Given the description of an element on the screen output the (x, y) to click on. 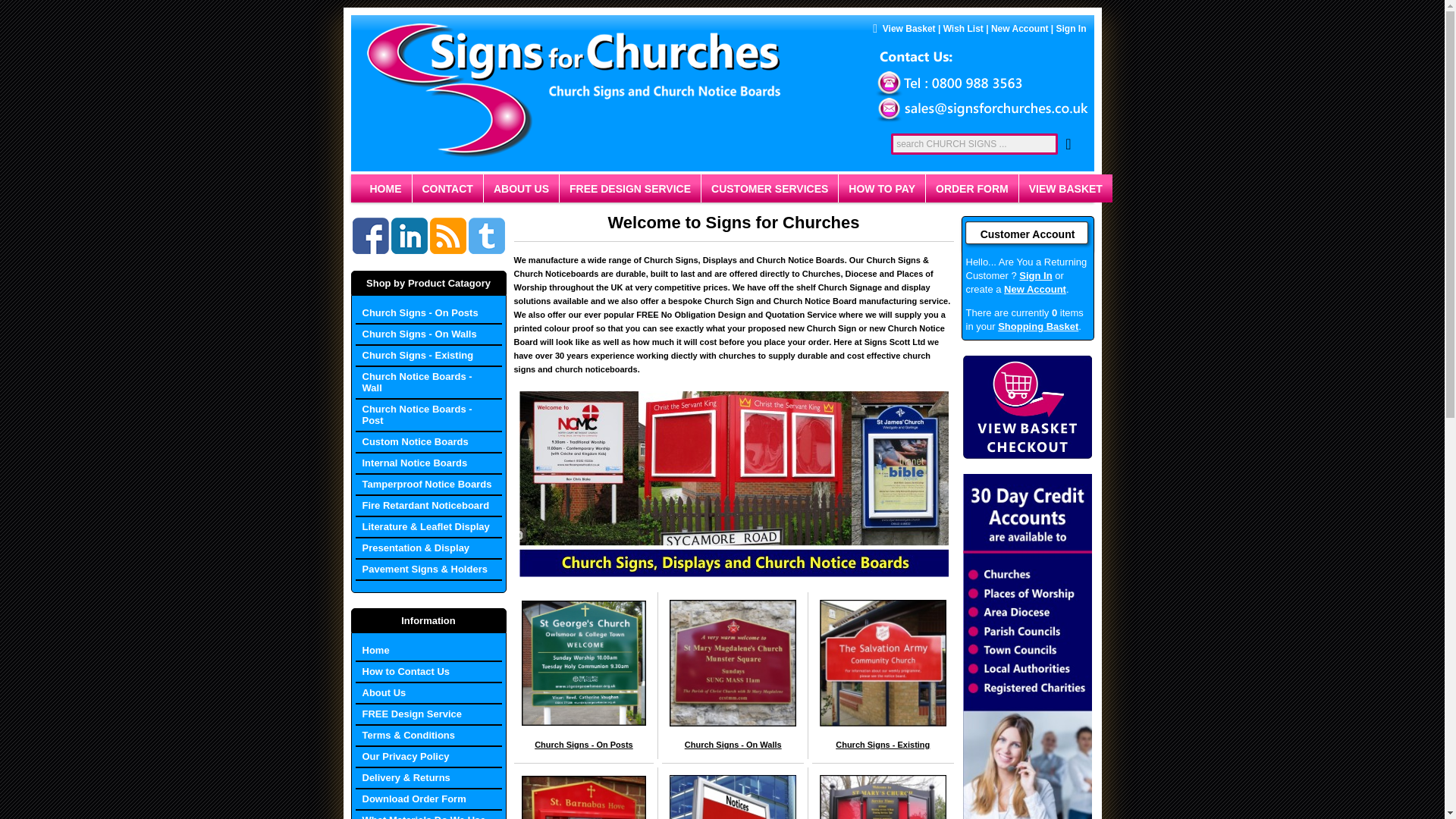
Church Signs - On Posts (427, 313)
About Us (427, 693)
Our Privacy Policy (427, 757)
Home (427, 650)
Church Notice Boards - Post (427, 415)
Internal Notice Boards (427, 464)
Church Notice Boards - Wall (427, 382)
Church Signs - Existing (427, 355)
What Materials Do We Use (427, 814)
Church Signs - On Walls (427, 334)
Church Signs - Existing (882, 744)
Custom Notice Boards (427, 442)
Church Signs - On Walls (732, 744)
Tamperproof Notice Boards (427, 485)
FREE Design Service (427, 714)
